Given the description of an element on the screen output the (x, y) to click on. 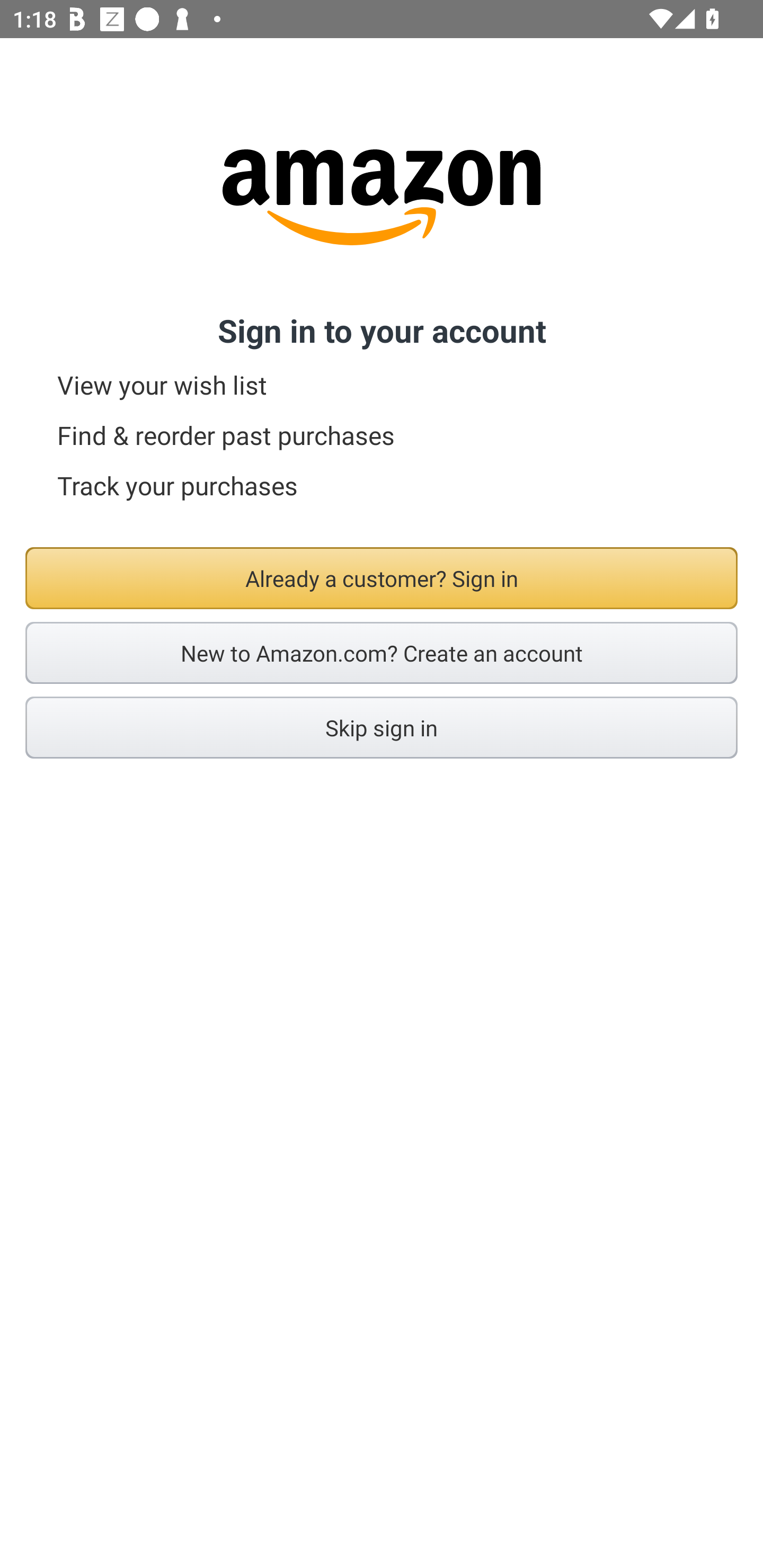
Already a customer? Sign in (381, 578)
New to Amazon.com? Create an account (381, 652)
Skip sign in (381, 727)
